Given the description of an element on the screen output the (x, y) to click on. 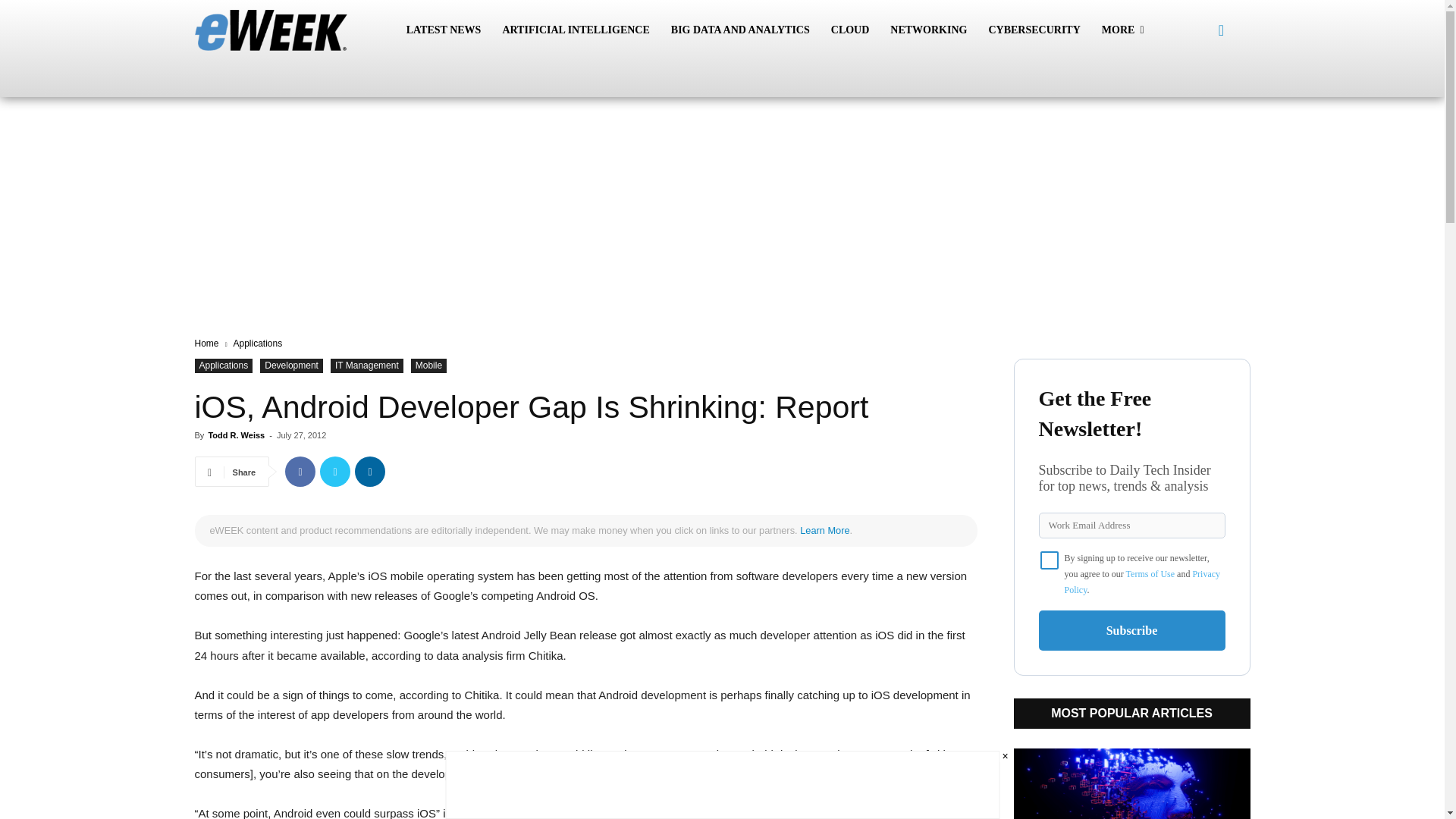
ARTIFICIAL INTELLIGENCE (575, 30)
Linkedin (370, 471)
CLOUD (850, 30)
BIG DATA AND ANALYTICS (741, 30)
NETWORKING (927, 30)
LATEST NEWS (444, 30)
CYBERSECURITY (1033, 30)
Twitter (335, 471)
on (1049, 560)
Facebook (300, 471)
